Given the description of an element on the screen output the (x, y) to click on. 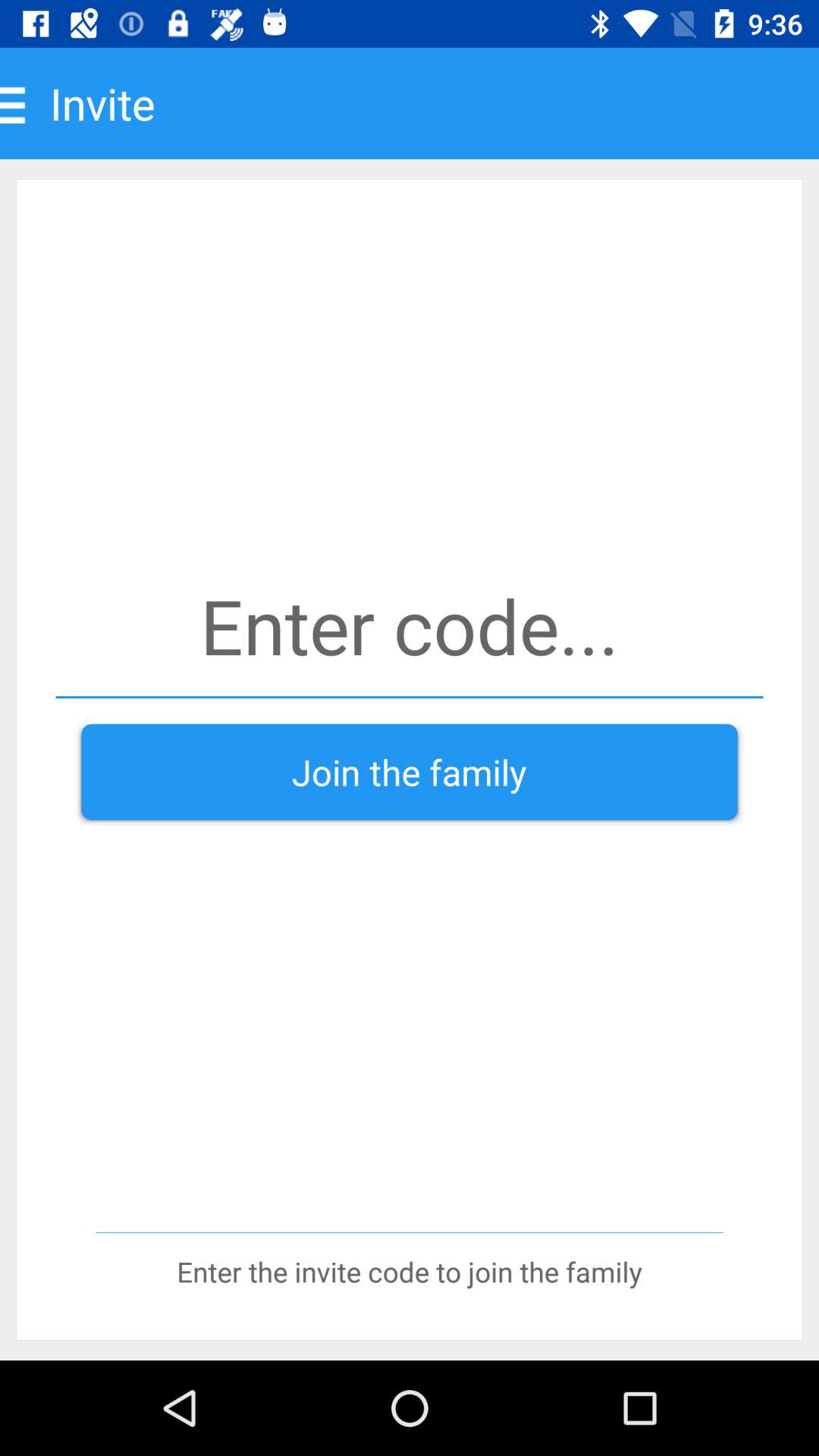
enter code (409, 625)
